Given the description of an element on the screen output the (x, y) to click on. 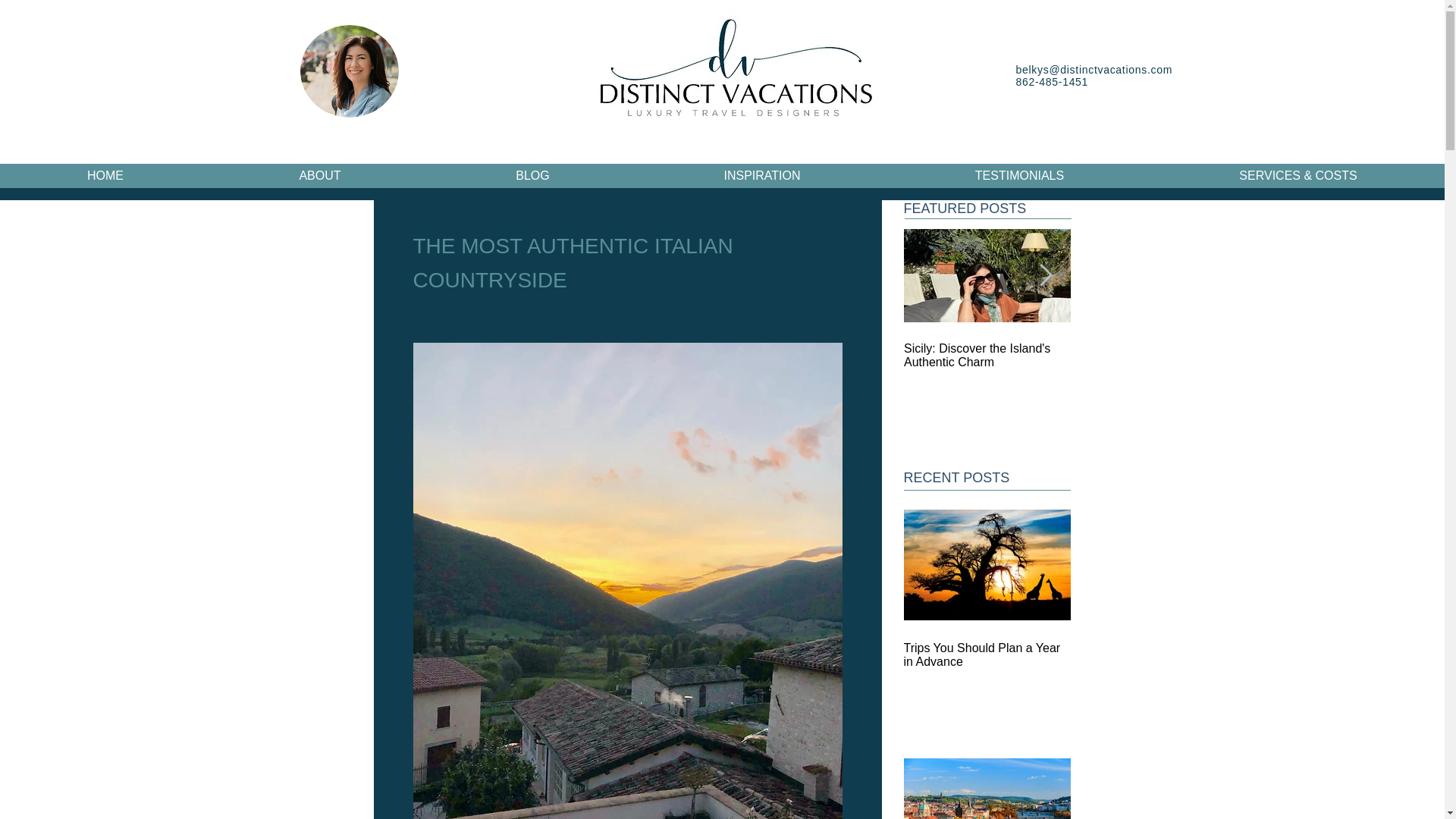
A Guide to the Best Places to Vacation - by Month (1153, 355)
862-485-1451 (1052, 81)
CONTACT US (1056, 142)
Sicily: Discover the Island's Authentic Charm (987, 355)
Trips You Should Plan a Year in Advance (987, 655)
